Given the description of an element on the screen output the (x, y) to click on. 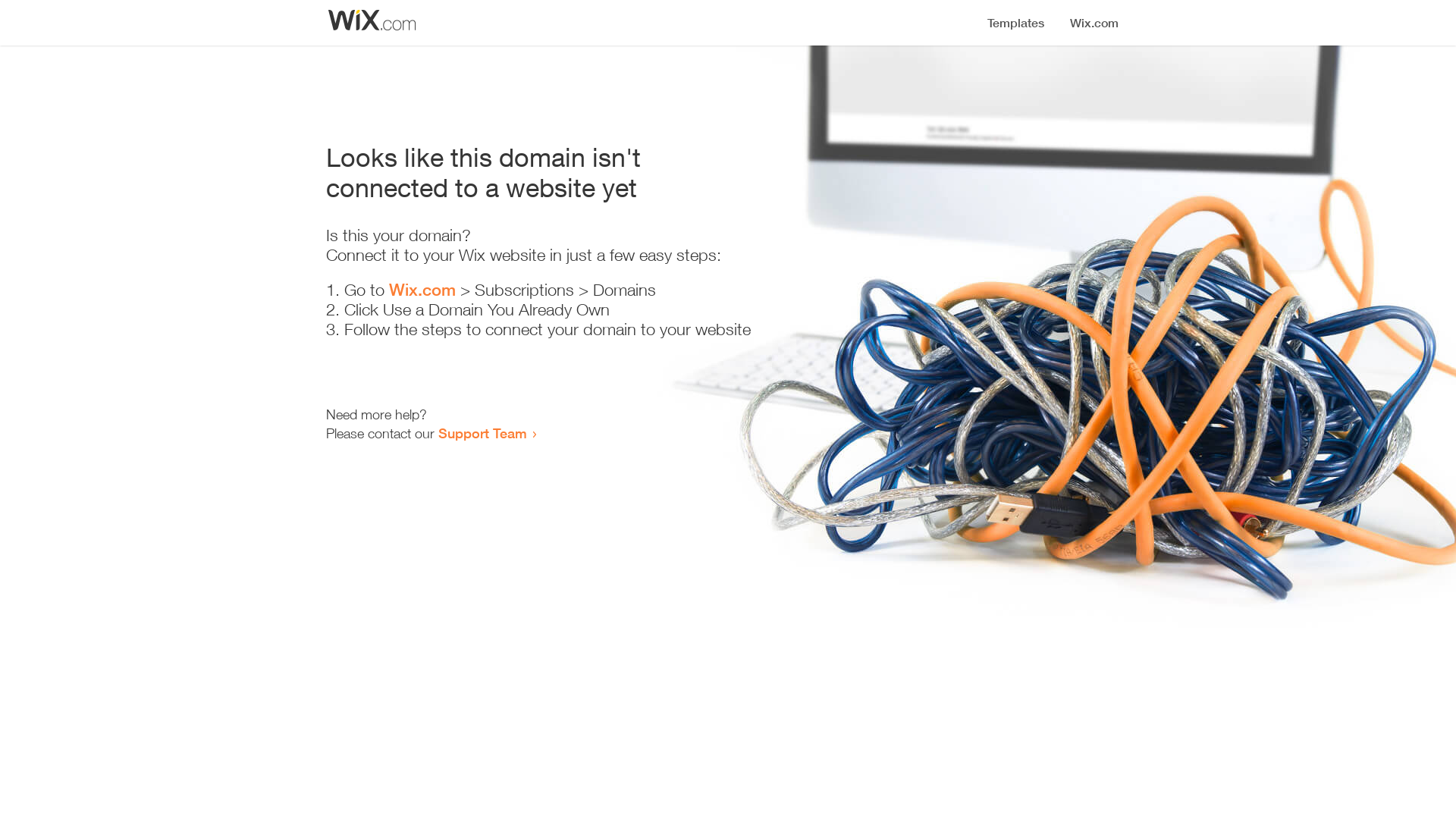
Wix.com Element type: text (422, 289)
Support Team Element type: text (482, 432)
